Given the description of an element on the screen output the (x, y) to click on. 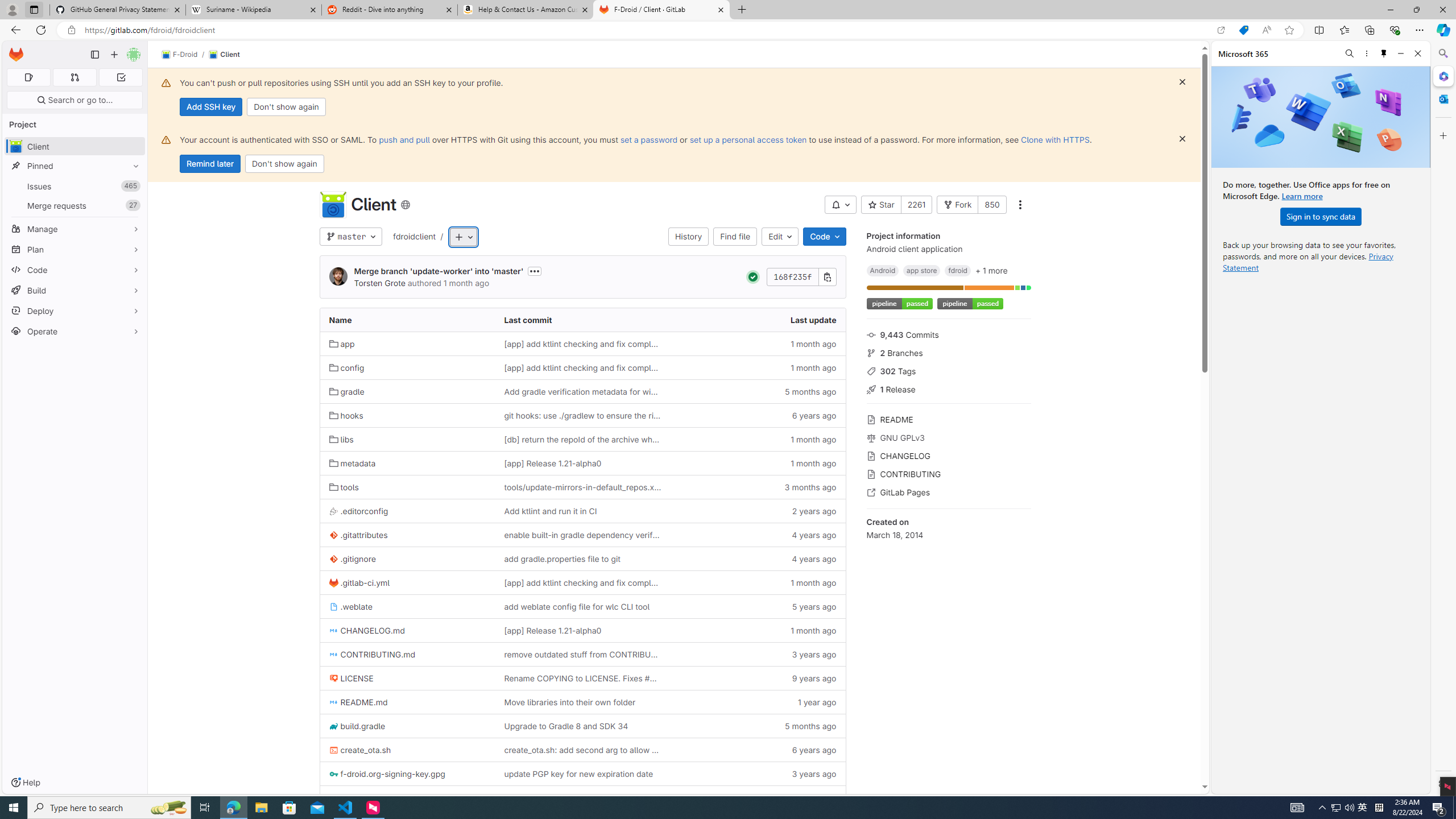
850 (991, 204)
Add to tree (463, 236)
LICENSE (351, 678)
+ 1 more (991, 269)
CONTRIBUTING (948, 473)
.gitattributes (358, 535)
9 years ago (757, 677)
2 Branches (948, 351)
